Given the description of an element on the screen output the (x, y) to click on. 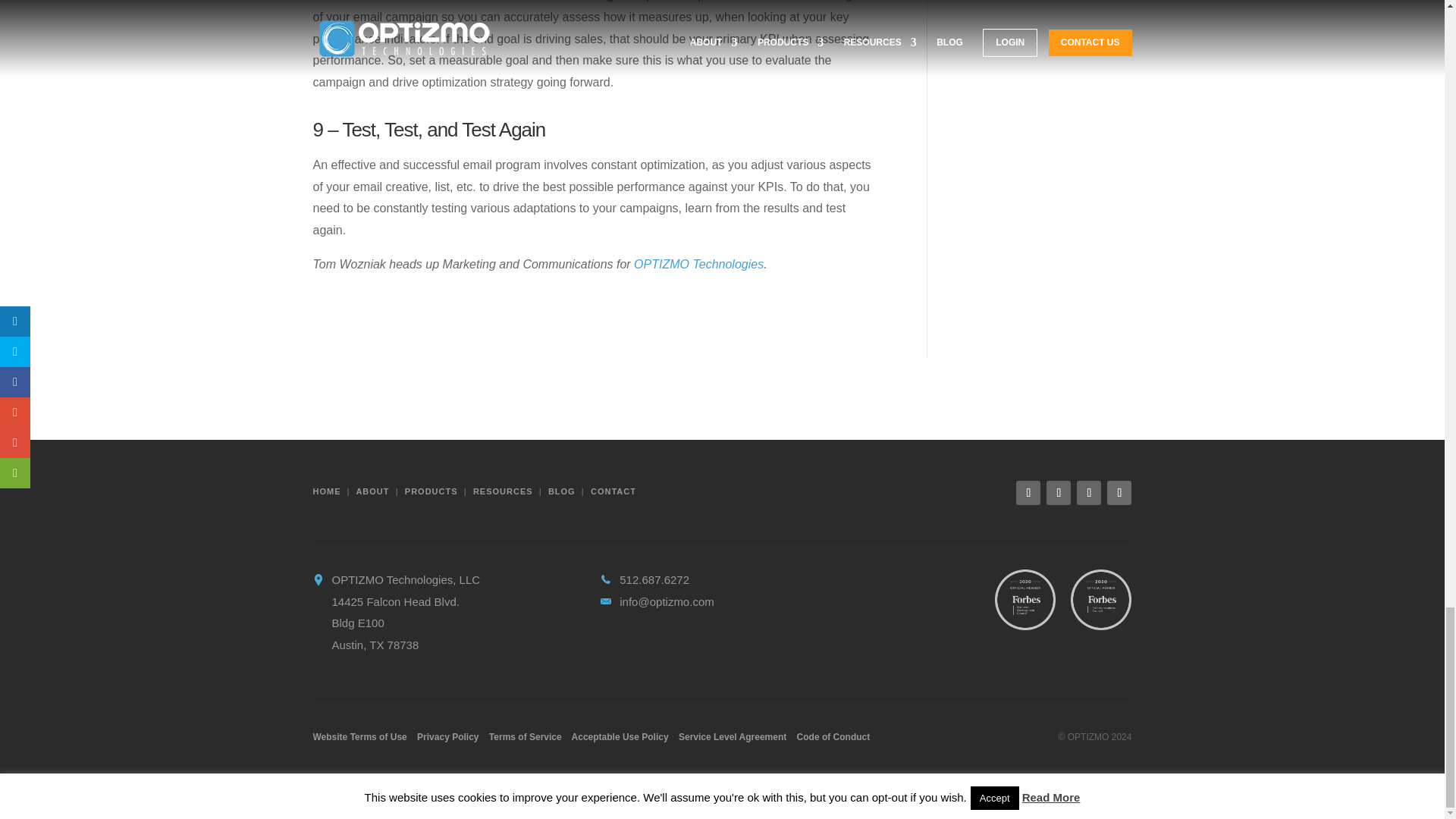
Follow on Youtube (1118, 492)
Follow on Facebook (1058, 492)
Follow on LinkedIn (1028, 492)
Follow on Twitter (1088, 492)
